Given the description of an element on the screen output the (x, y) to click on. 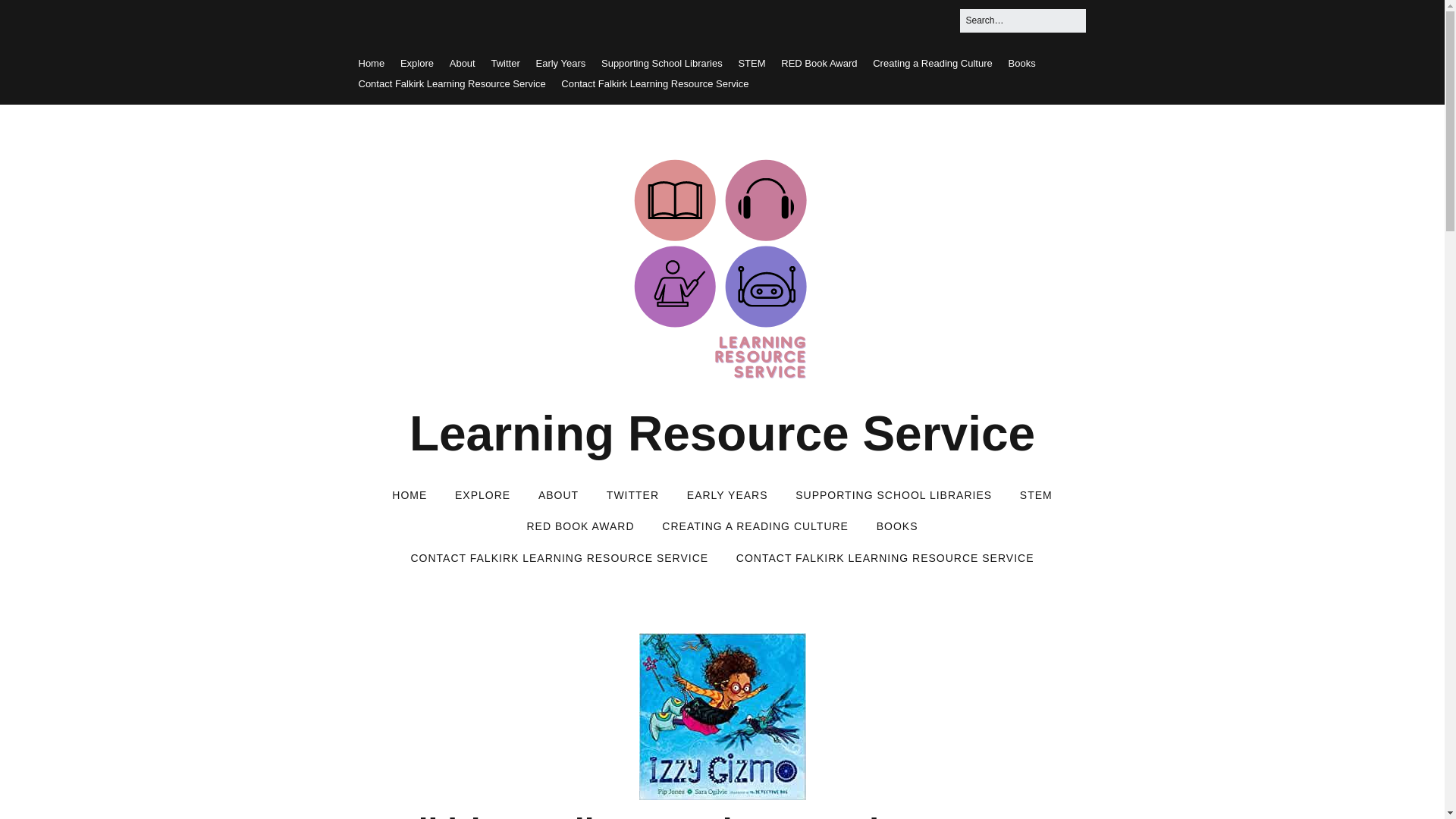
CONTACT FALKIRK LEARNING RESOURCE SERVICE (558, 558)
Books (1022, 62)
EXPLORE (482, 495)
Home (371, 62)
Explore (416, 62)
Twitter (504, 62)
RED BOOK AWARD (579, 526)
About (462, 62)
Learning Resource Service (722, 433)
Creating a Reading Culture (932, 62)
HOME (409, 495)
SUPPORTING SCHOOL LIBRARIES (893, 495)
Search (29, 16)
CONTACT FALKIRK LEARNING RESOURCE SERVICE (884, 558)
BOOKS (897, 526)
